Given the description of an element on the screen output the (x, y) to click on. 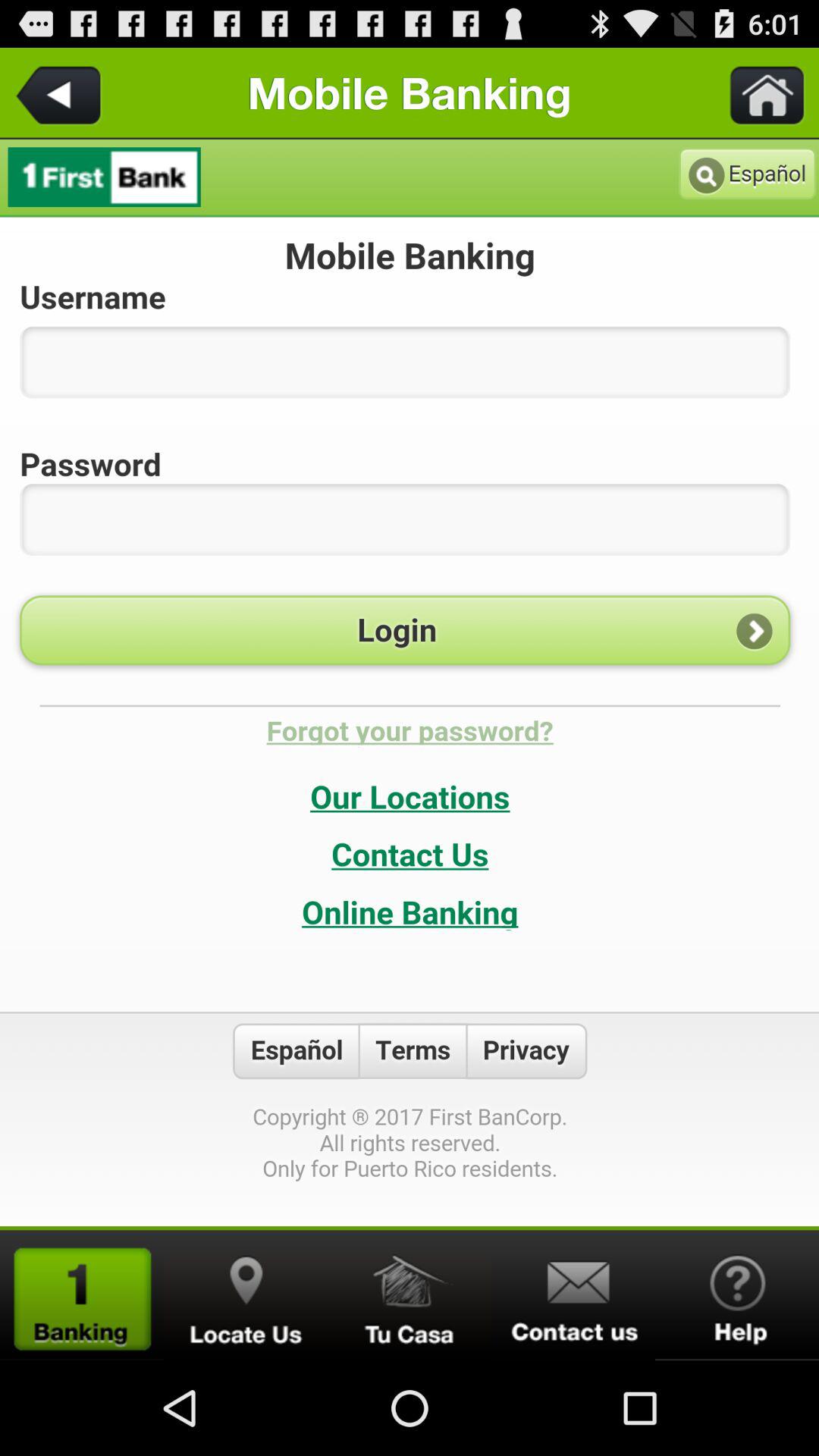
look for locations (245, 1295)
